Given the description of an element on the screen output the (x, y) to click on. 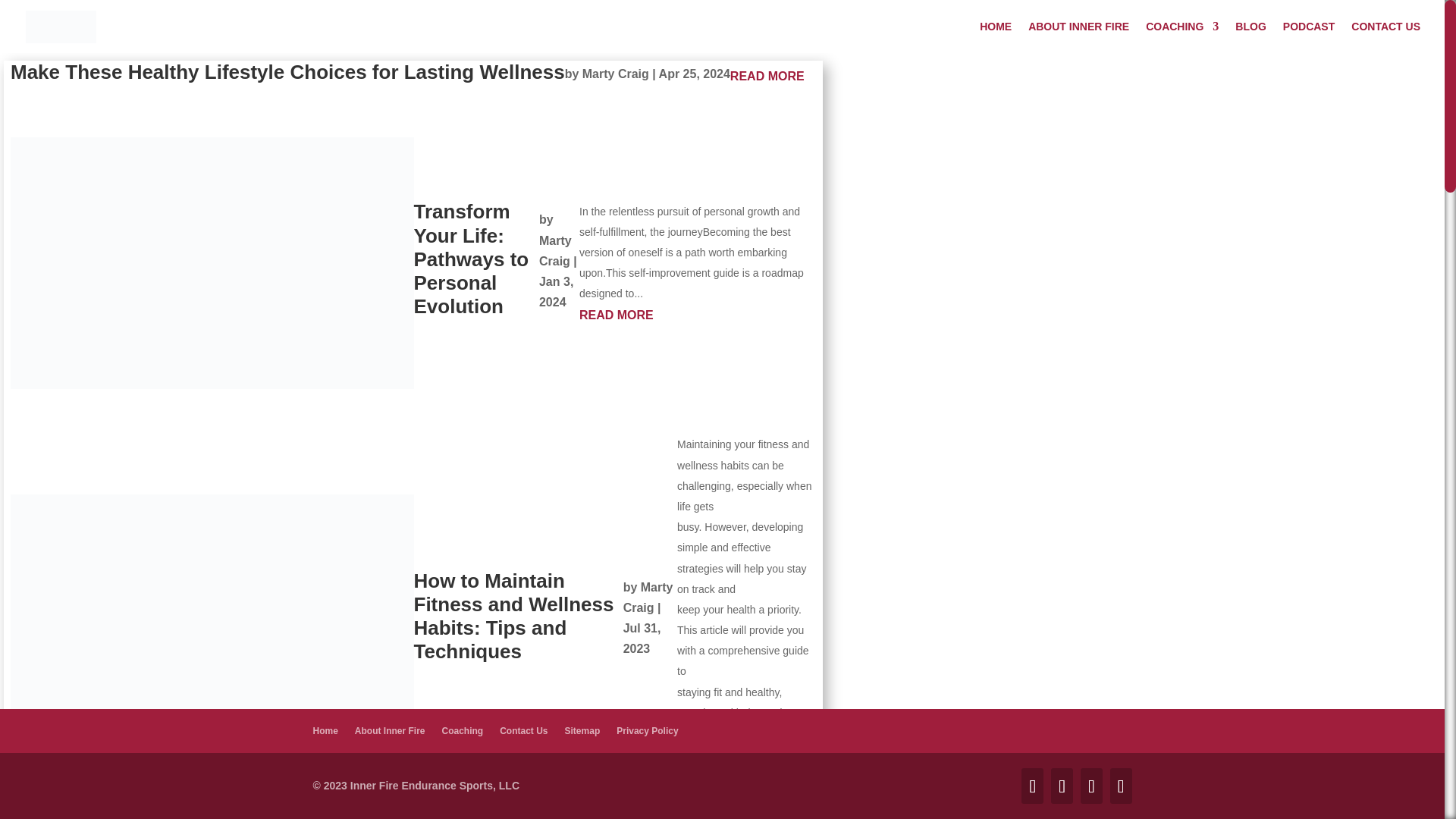
READ MORE (746, 795)
Posts by Marty Craig (555, 249)
Transform Your Life: Pathways to Personal Evolution (471, 258)
READ MORE (697, 314)
READ MORE (767, 76)
Make These Healthy Lifestyle Choices for Lasting Wellness (287, 71)
Marty Craig (555, 249)
Marty Craig (615, 73)
ABOUT INNER FIRE (1078, 37)
Posts by Marty Craig (615, 73)
PODCAST (1308, 37)
Marty Craig (647, 597)
Posts by Marty Craig (647, 597)
CONTACT US (1386, 37)
